Given the description of an element on the screen output the (x, y) to click on. 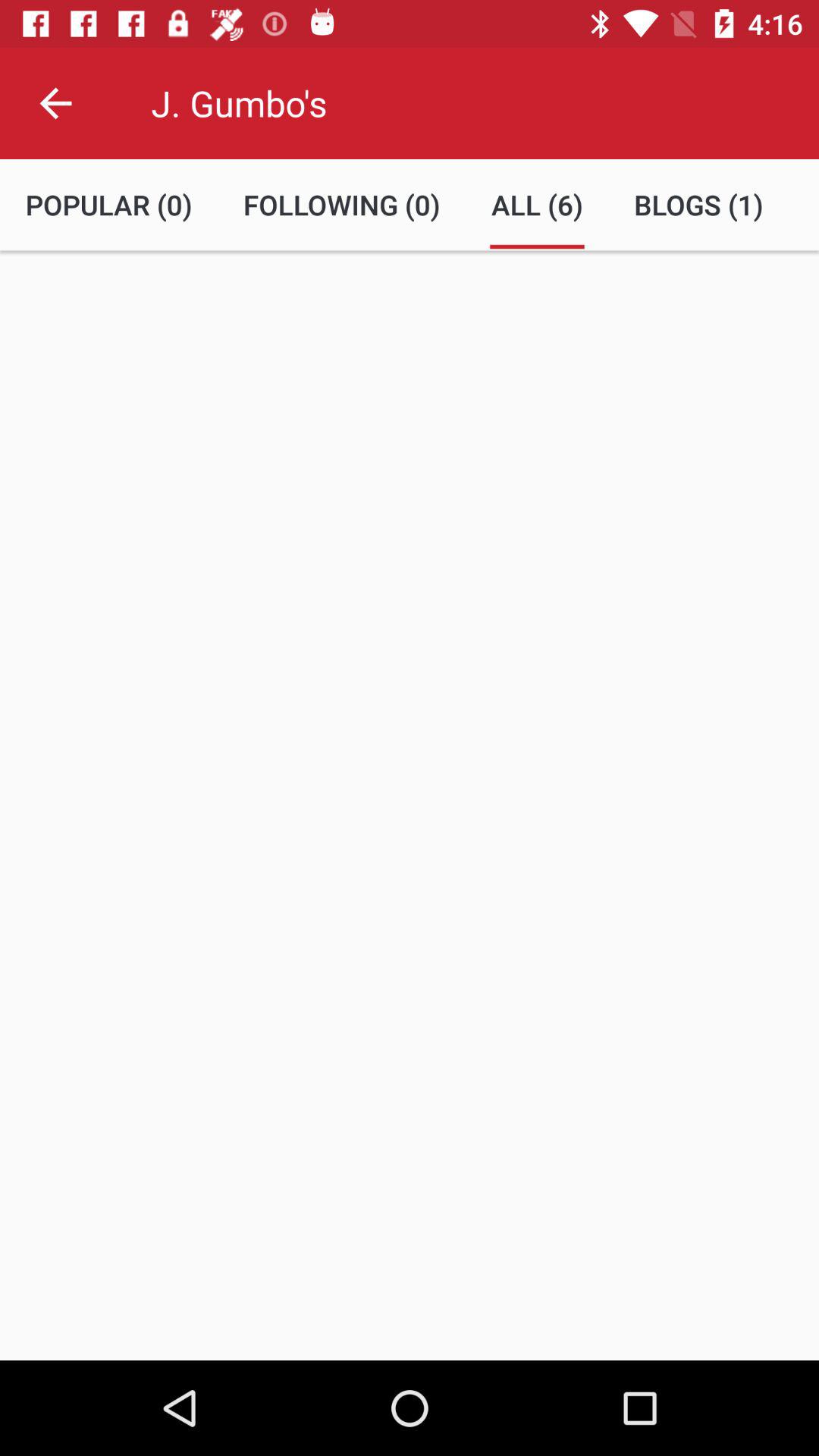
turn off item below the j. gumbo's item (341, 204)
